Given the description of an element on the screen output the (x, y) to click on. 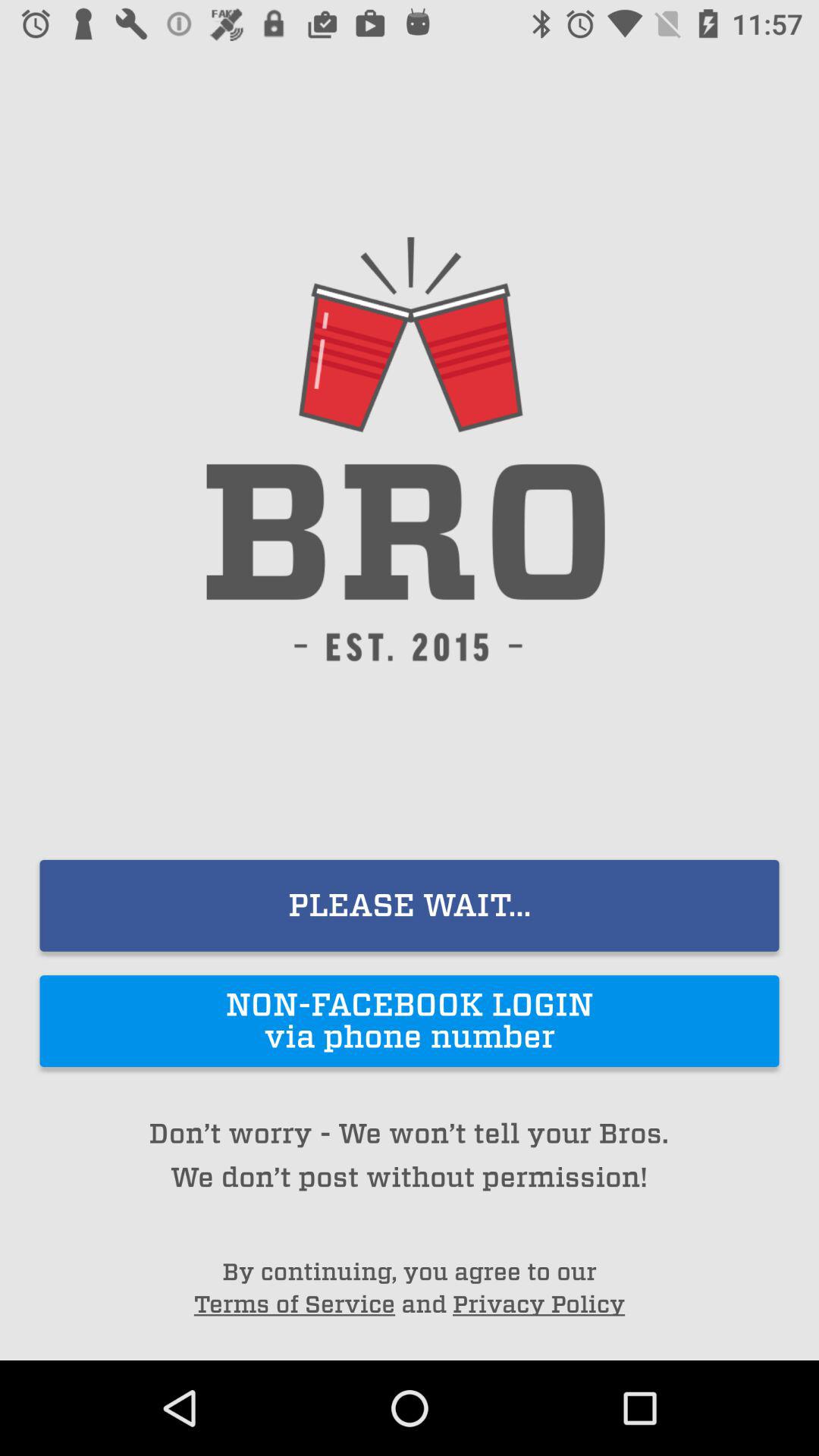
turn on the non facebook login item (409, 1020)
